Given the description of an element on the screen output the (x, y) to click on. 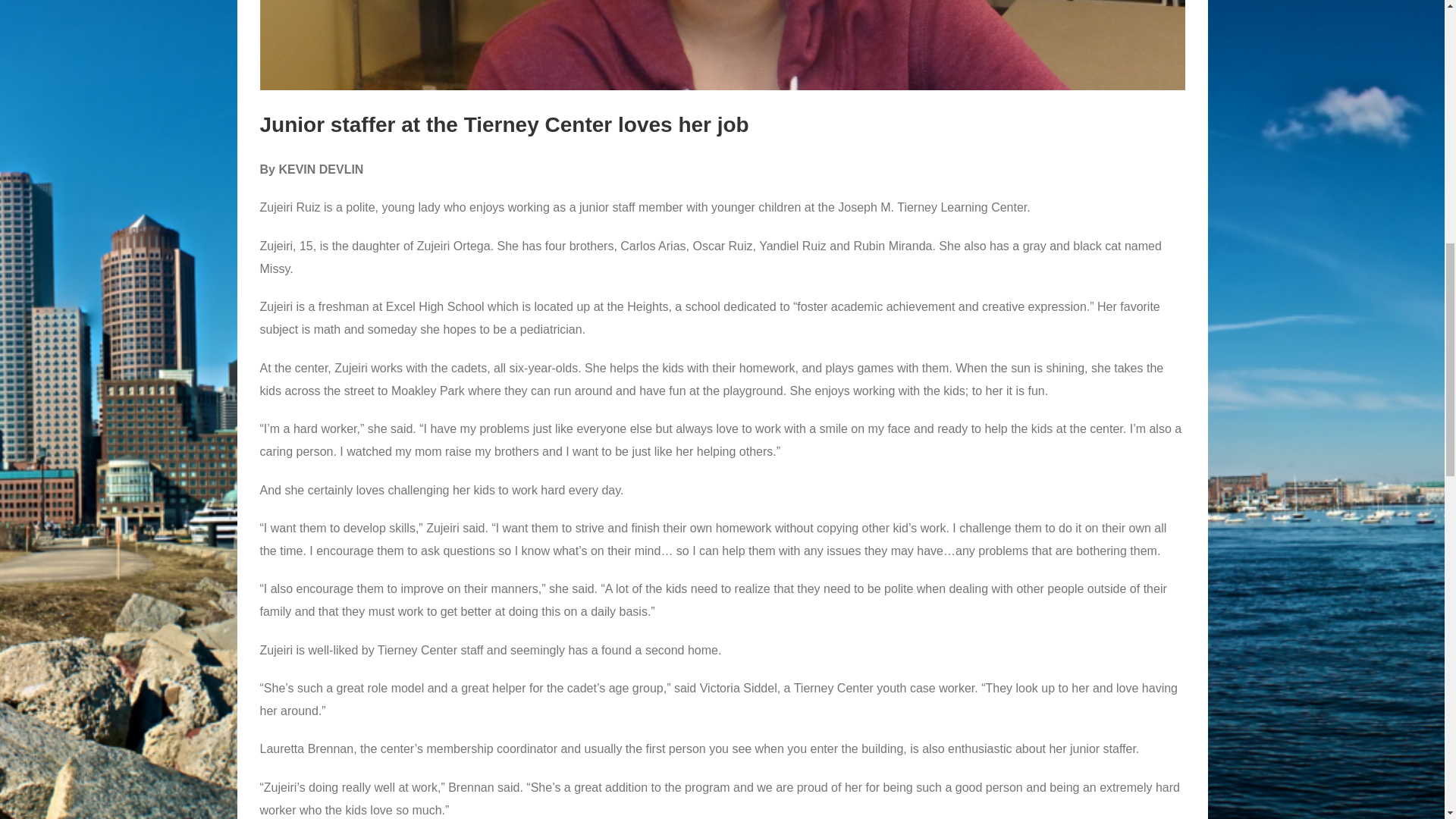
View Larger Image (722, 45)
